Given the description of an element on the screen output the (x, y) to click on. 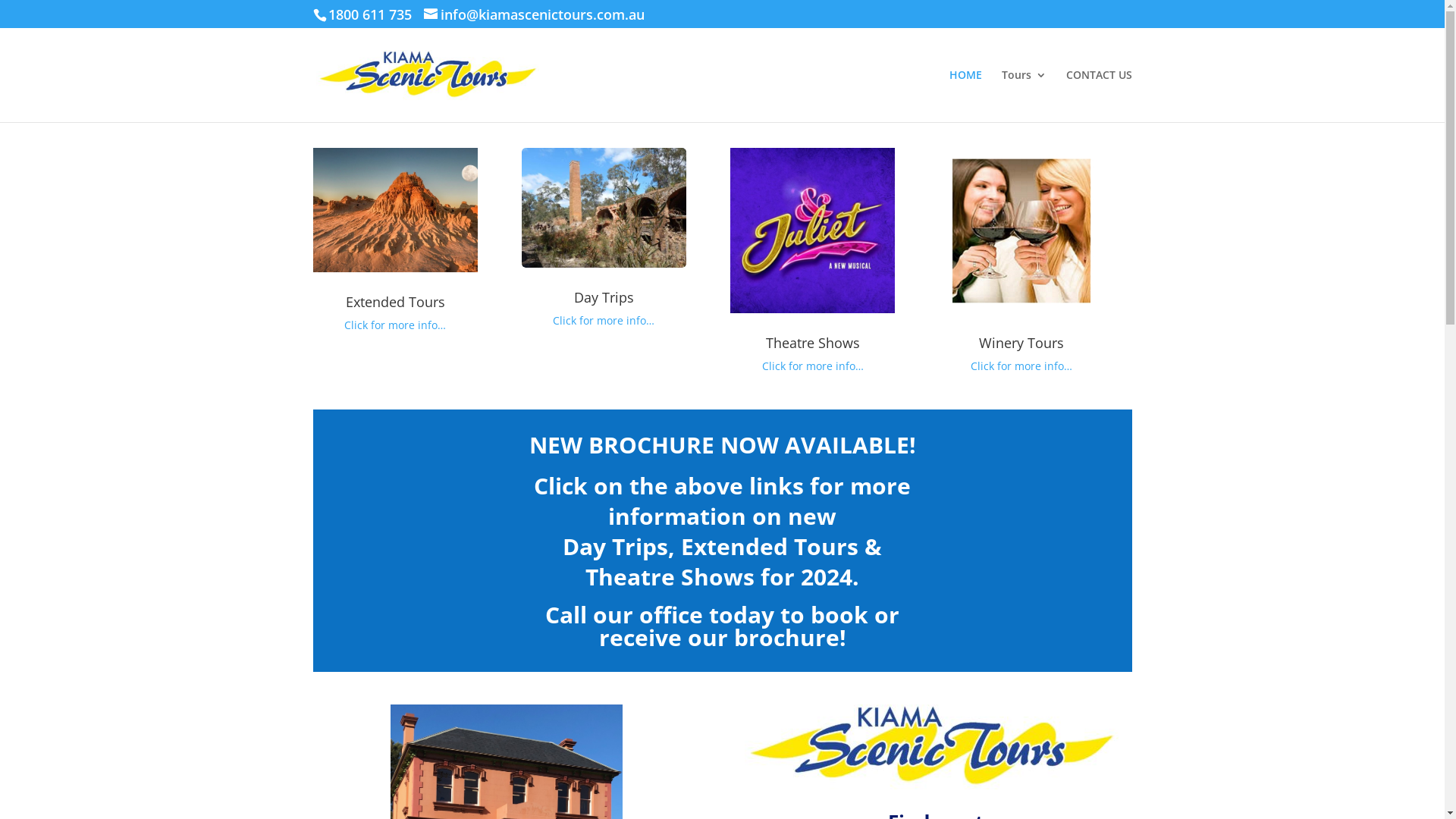
Winery Tours Element type: text (1021, 342)
Day Trips Element type: text (603, 297)
HOME Element type: text (965, 95)
Extended Tours Element type: text (395, 301)
CONTACT US Element type: text (1099, 95)
Tours Element type: text (1023, 95)
Theatre Shows Element type: text (812, 342)
1800 611 735 Element type: text (369, 14)
KSC single Element type: hover (931, 746)
info@kiamascenictours.com.au Element type: text (533, 15)
